Given the description of an element on the screen output the (x, y) to click on. 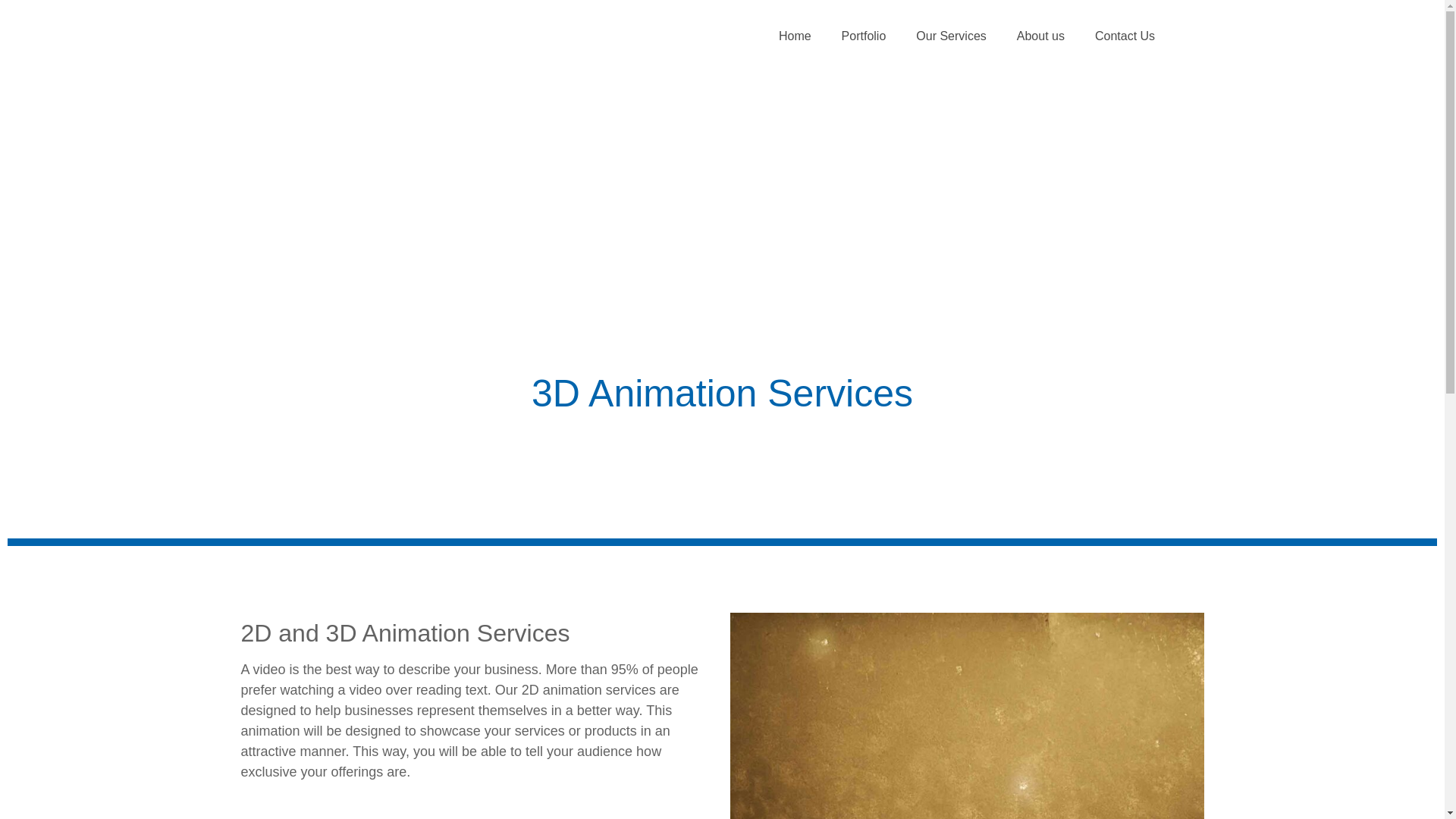
About us (1040, 36)
Our Services (951, 36)
Home (794, 36)
Portfolio (864, 36)
Contact Us (1125, 36)
